Given the description of an element on the screen output the (x, y) to click on. 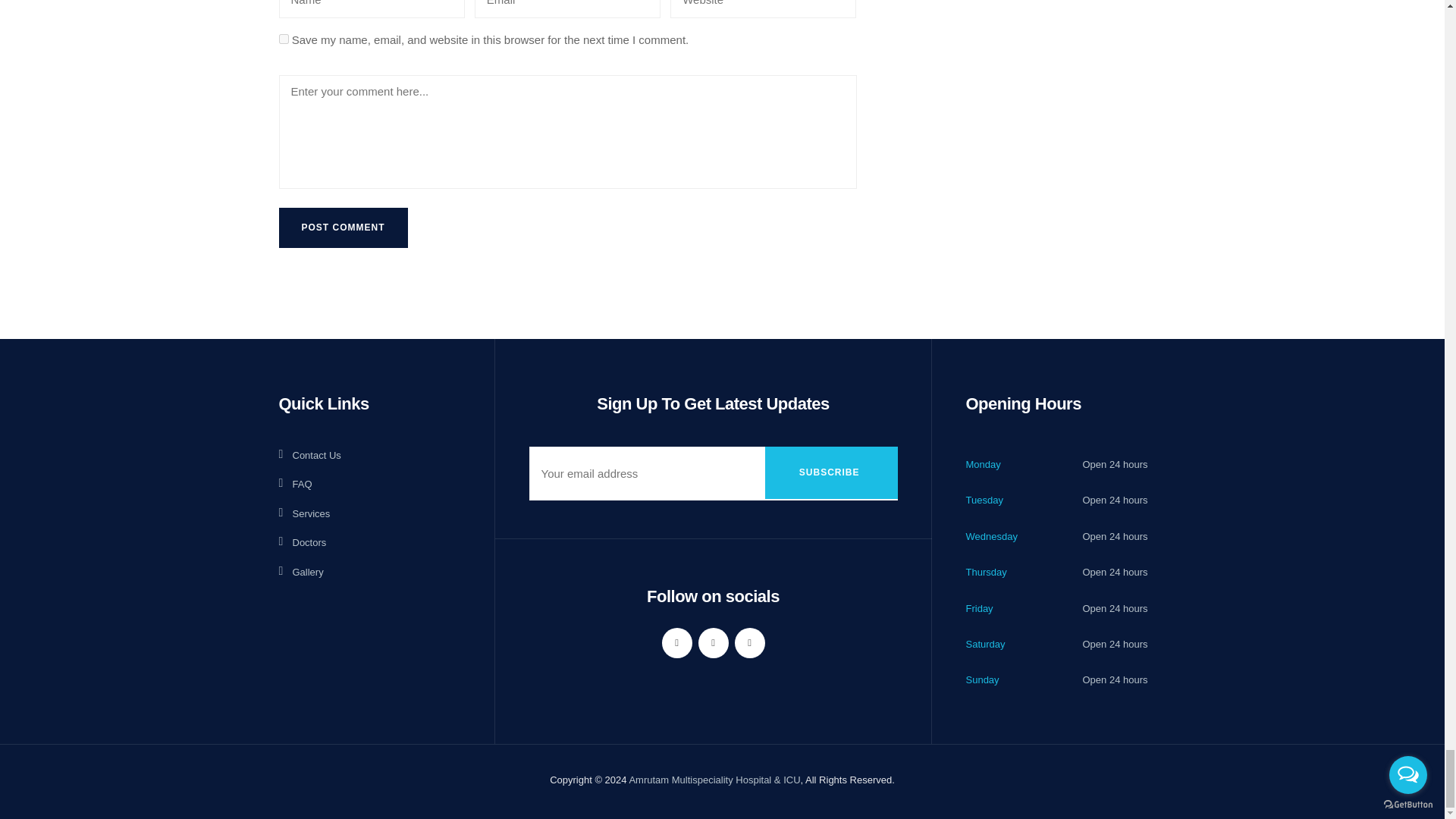
Post Comment (343, 228)
Post Comment (343, 228)
yes (283, 39)
